Given the description of an element on the screen output the (x, y) to click on. 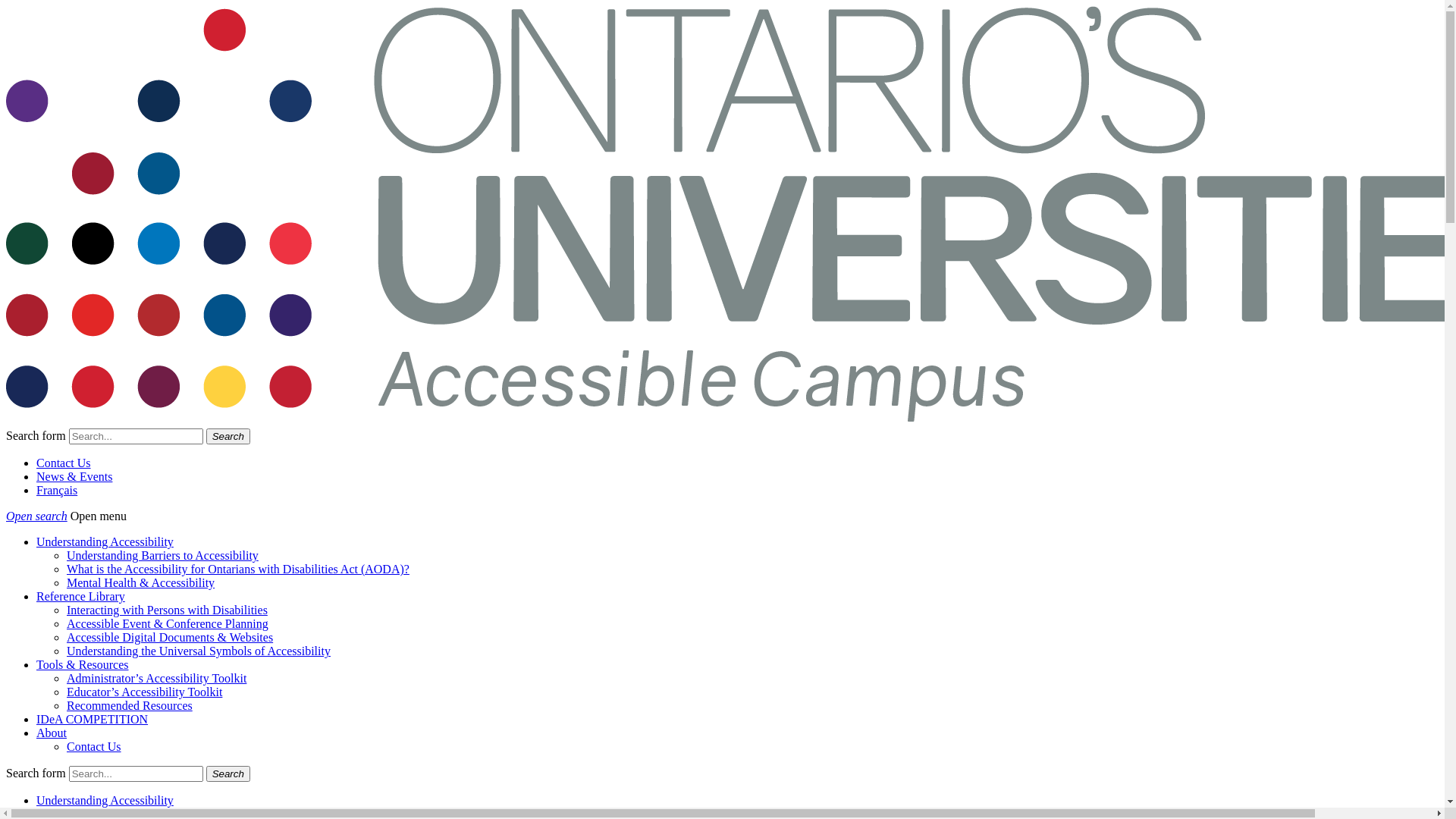
Recommended Resources Element type: text (129, 705)
Search Element type: text (228, 436)
Mental Health & Accessibility Element type: text (140, 582)
IDeA COMPETITION Element type: text (91, 718)
News & Events Element type: text (74, 476)
Understanding Accessibility Element type: text (104, 541)
Open menu Element type: text (98, 515)
Search Element type: text (228, 773)
Accessible Event & Conference Planning Element type: text (167, 623)
Contact Us Element type: text (93, 746)
Open search Element type: text (36, 515)
About Element type: text (51, 732)
Understanding the Universal Symbols of Accessibility Element type: text (198, 650)
Contact Us Element type: text (63, 462)
Understanding Barriers to Accessibility Element type: text (162, 555)
Interacting with Persons with Disabilities Element type: text (166, 609)
Accessible Digital Documents & Websites Element type: text (169, 636)
Tools & Resources Element type: text (82, 664)
Understanding Accessibility Element type: text (104, 799)
Reference Library Element type: text (80, 595)
